Given the description of an element on the screen output the (x, y) to click on. 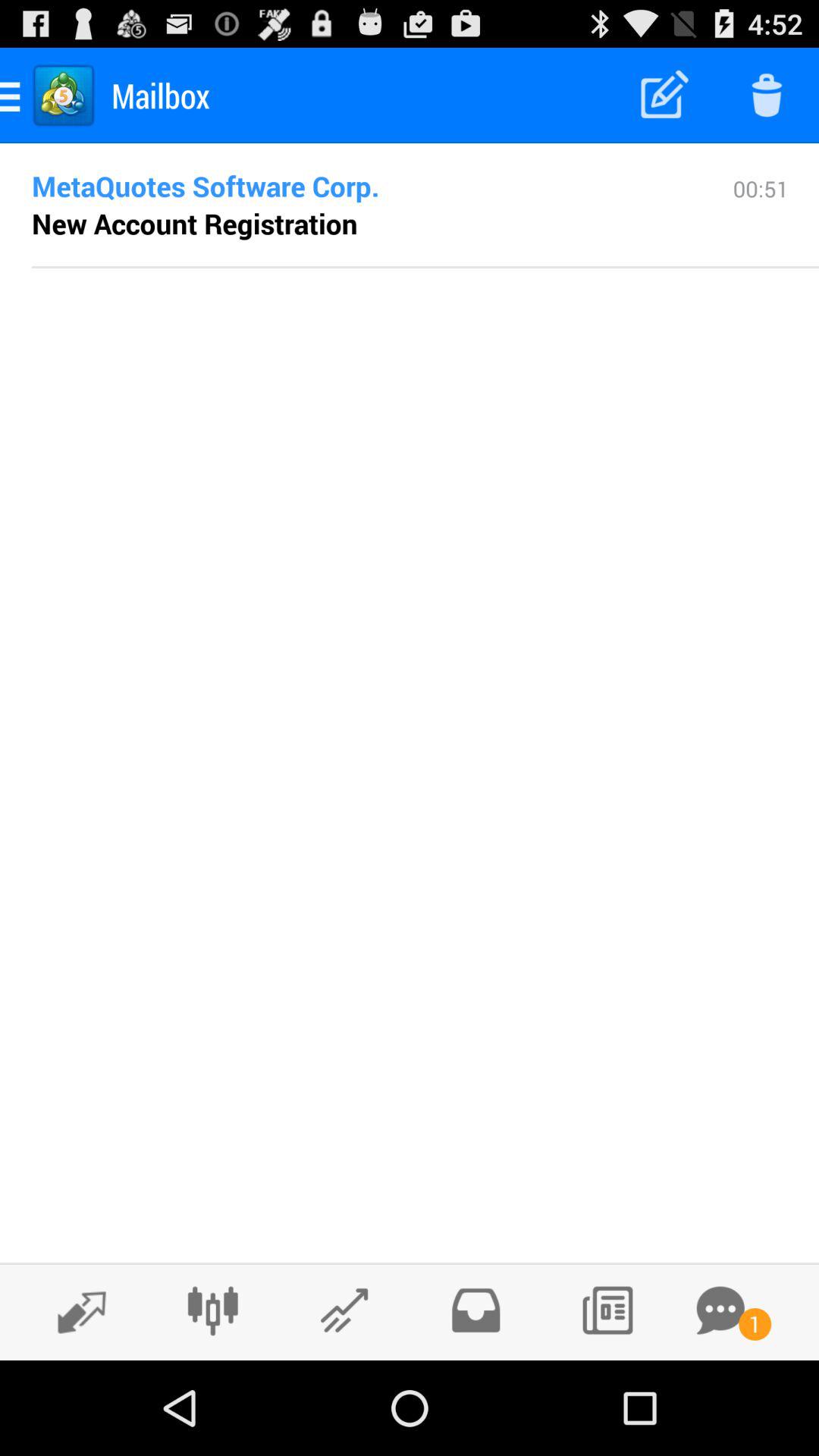
turn off item to the left of the 00:51 icon (194, 223)
